Given the description of an element on the screen output the (x, y) to click on. 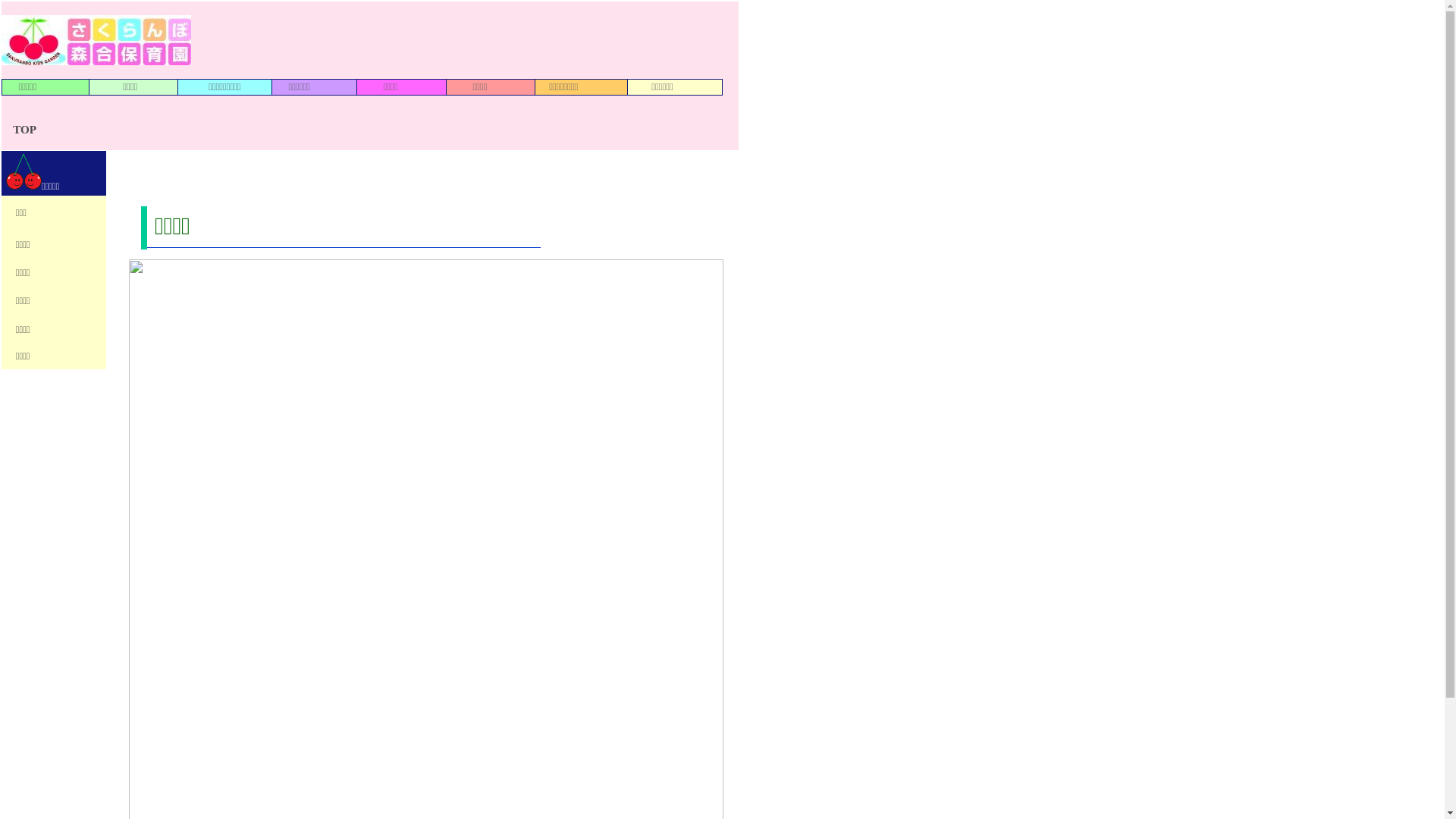
TOP Element type: text (24, 128)
